Given the description of an element on the screen output the (x, y) to click on. 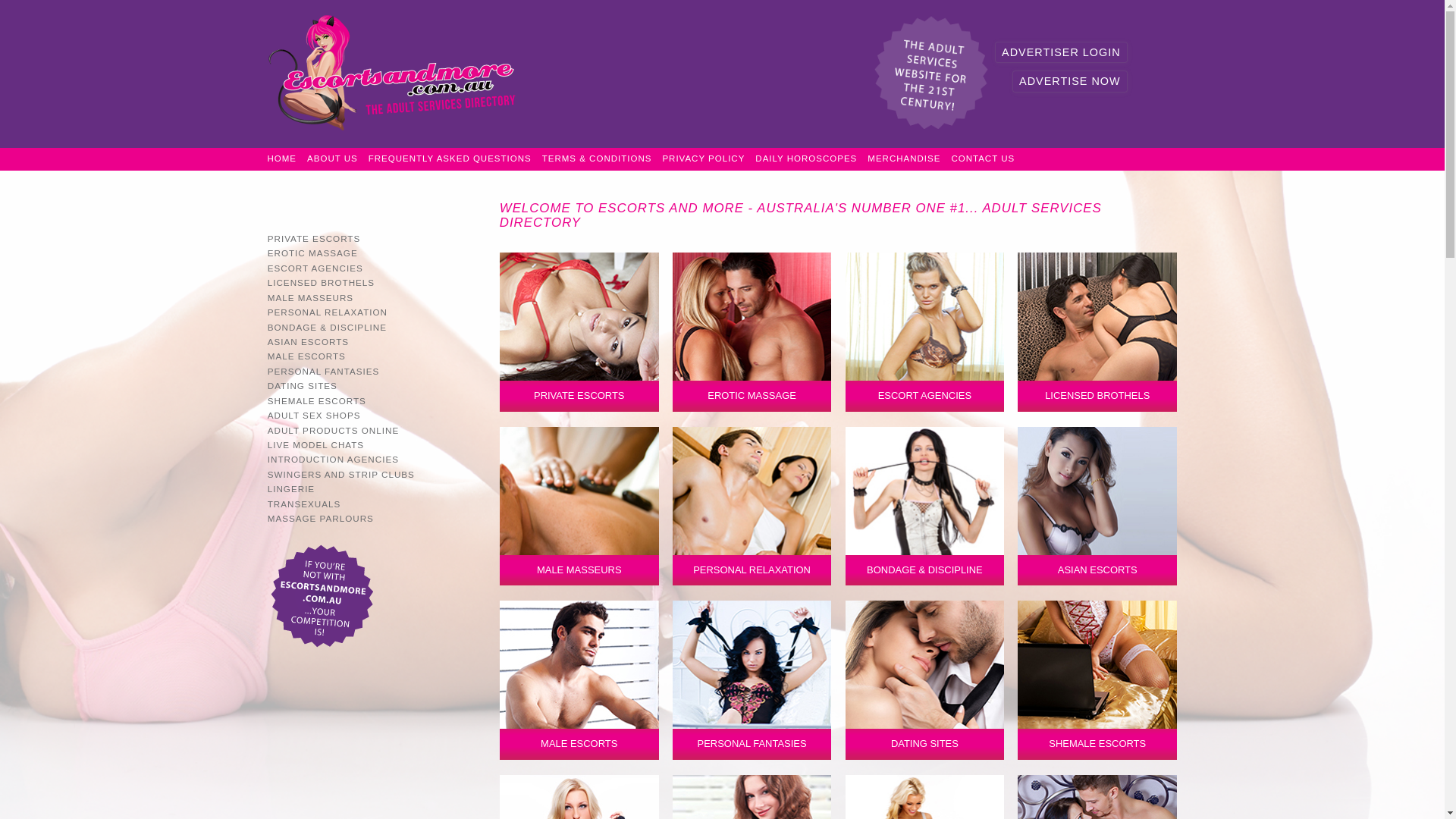
Personal Relaxation Element type: hover (751, 506)
Bondage & Discipline Element type: hover (924, 506)
TRANSEXUALS Element type: text (374, 503)
MERCHANDISE Element type: text (903, 158)
Private Escorts Element type: hover (578, 331)
TERMS & CONDITIONS Element type: text (597, 158)
LIVE MODEL CHATS Element type: text (374, 444)
MALE ESCORTS Element type: text (374, 355)
ASIAN ESCORTS Element type: text (374, 341)
LICENSED BROTHELS Element type: text (374, 282)
SWINGERS AND STRIP CLUBS Element type: text (374, 474)
Male Escorts Element type: hover (578, 679)
ADVERTISE NOW Element type: text (1069, 80)
PRIVATE ESCORTS Element type: text (578, 331)
FREQUENTLY ASKED QUESTIONS Element type: text (449, 158)
CONTACT US Element type: text (982, 158)
PERSONAL FANTASIES Element type: text (374, 371)
PERSONAL RELAXATION Element type: text (374, 311)
ADVERTISER LOGIN Element type: text (1060, 51)
INTRODUCTION AGENCIES Element type: text (374, 458)
DATING SITES Element type: text (924, 679)
ABOUT US Element type: text (332, 158)
DATING SITES Element type: text (374, 385)
PRIVACY POLICY Element type: text (703, 158)
MASSAGE PARLOURS Element type: text (374, 518)
Licensed Brothels Element type: hover (1096, 331)
HOME Element type: text (281, 158)
LICENSED BROTHELS Element type: text (1096, 331)
BONDAGE & DISCIPLINE Element type: text (924, 506)
DAILY HOROSCOPES Element type: text (805, 158)
Erotic Massage Element type: hover (751, 331)
Escort Agencies Element type: hover (924, 331)
Personal Fantasies Element type: hover (751, 679)
Shemale Escorts Element type: hover (1096, 679)
MALE ESCORTS Element type: text (578, 679)
ESCORT AGENCIES Element type: text (374, 267)
ADULT SEX SHOPS Element type: text (374, 414)
SHEMALE ESCORTS Element type: text (374, 400)
LINGERIE Element type: text (374, 488)
ADULT PRODUCTS ONLINE Element type: text (374, 430)
BONDAGE & DISCIPLINE Element type: text (374, 327)
Asian Escorts Element type: hover (1096, 506)
Dating Sites Element type: hover (924, 679)
ESCORT AGENCIES Element type: text (924, 331)
PERSONAL FANTASIES Element type: text (751, 679)
ASIAN ESCORTS Element type: text (1096, 506)
Male Masseurs Element type: hover (578, 506)
MALE MASSEURS Element type: text (374, 297)
EROTIC MASSAGE Element type: text (751, 331)
PERSONAL RELAXATION Element type: text (751, 506)
SHEMALE ESCORTS Element type: text (1096, 679)
EROTIC MASSAGE Element type: text (374, 252)
MALE MASSEURS Element type: text (578, 506)
PRIVATE ESCORTS Element type: text (374, 238)
